Given the description of an element on the screen output the (x, y) to click on. 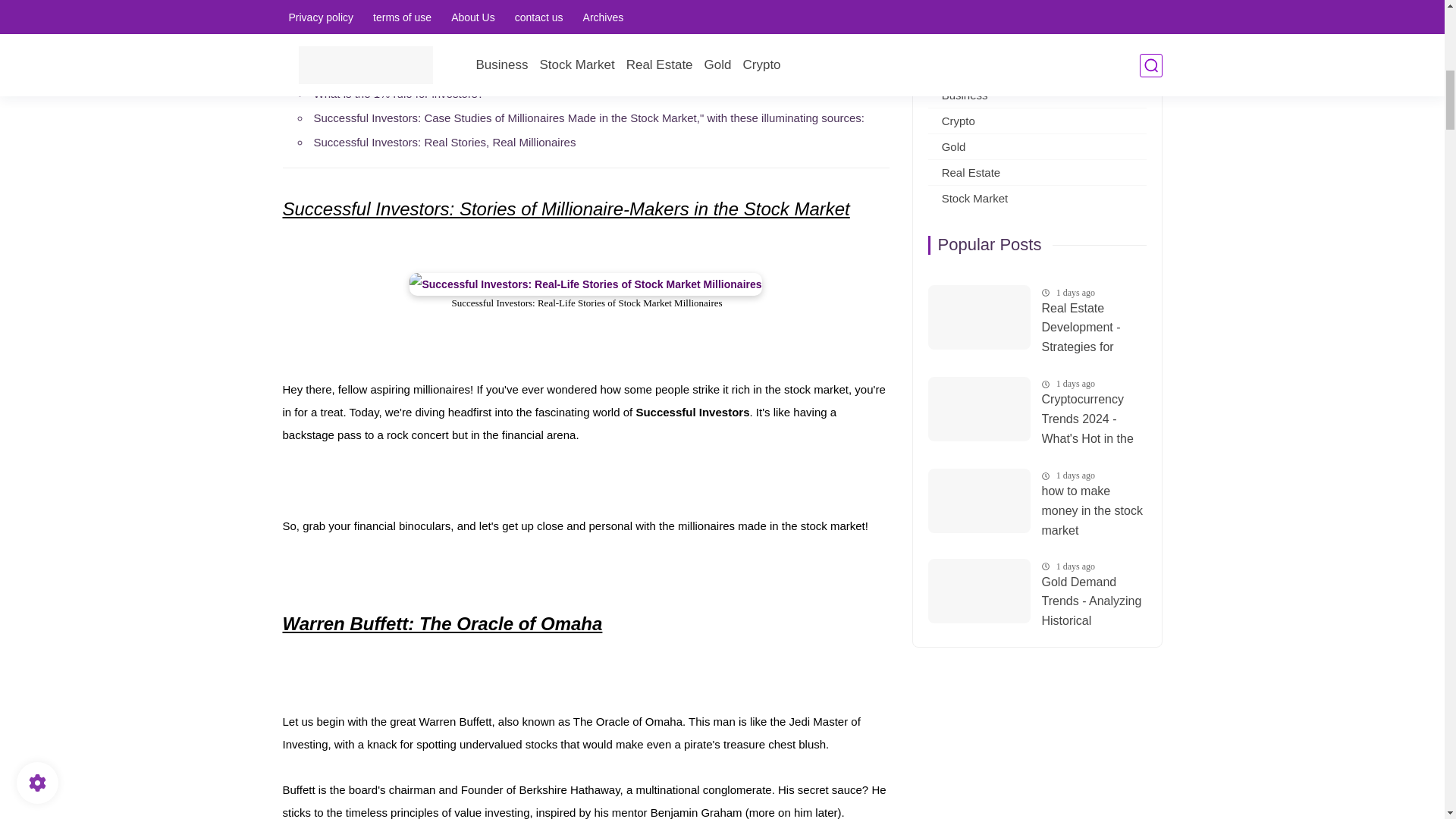
Successful Investors (585, 283)
